Given the description of an element on the screen output the (x, y) to click on. 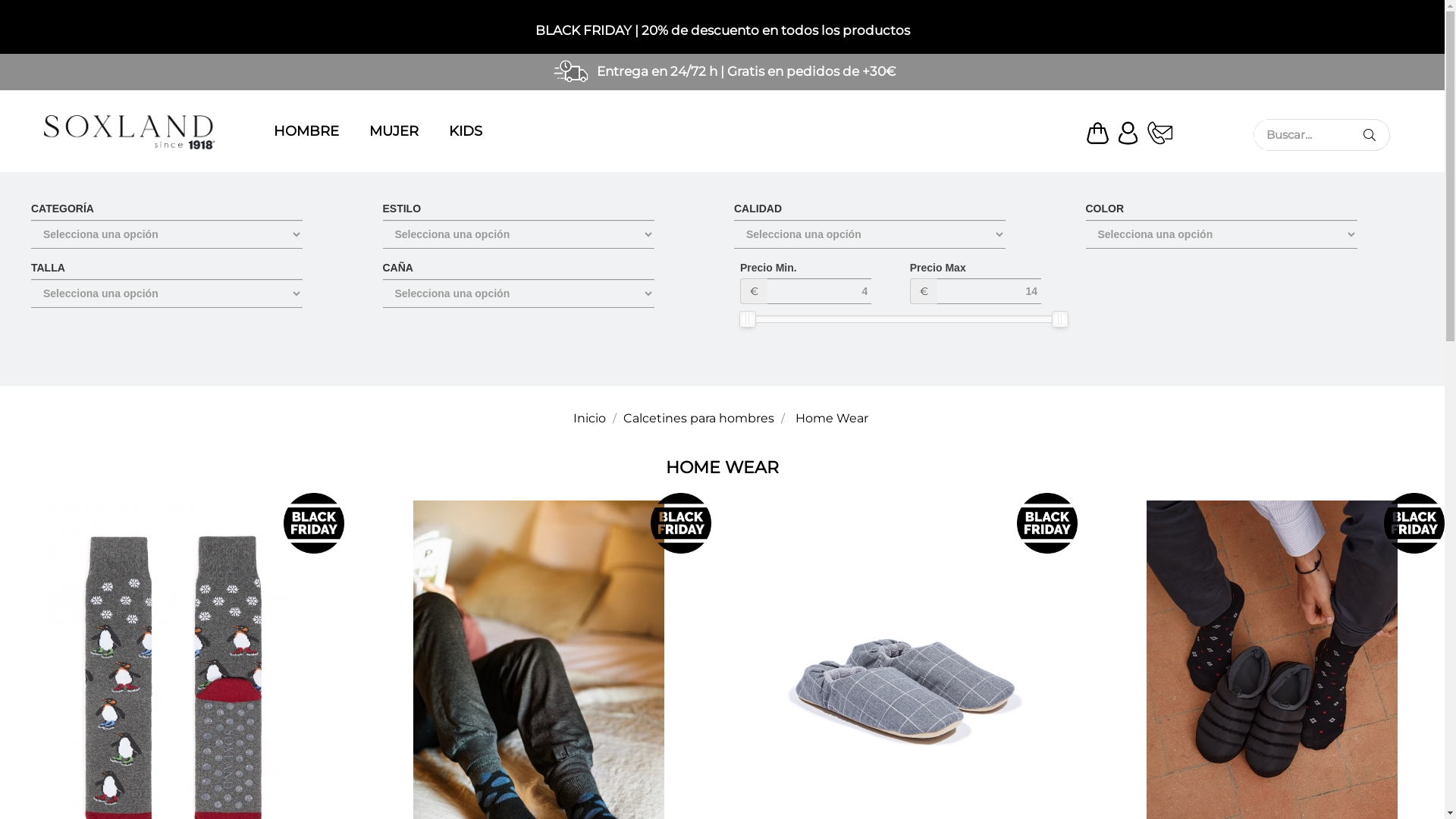
Calcetines para hombres Element type: text (700, 418)
MUJER Element type: text (399, 133)
KIDS Element type: text (471, 133)
Inicio Element type: text (590, 418)
HOMBRE Element type: text (311, 133)
Home Wear Element type: text (830, 418)
